Given the description of an element on the screen output the (x, y) to click on. 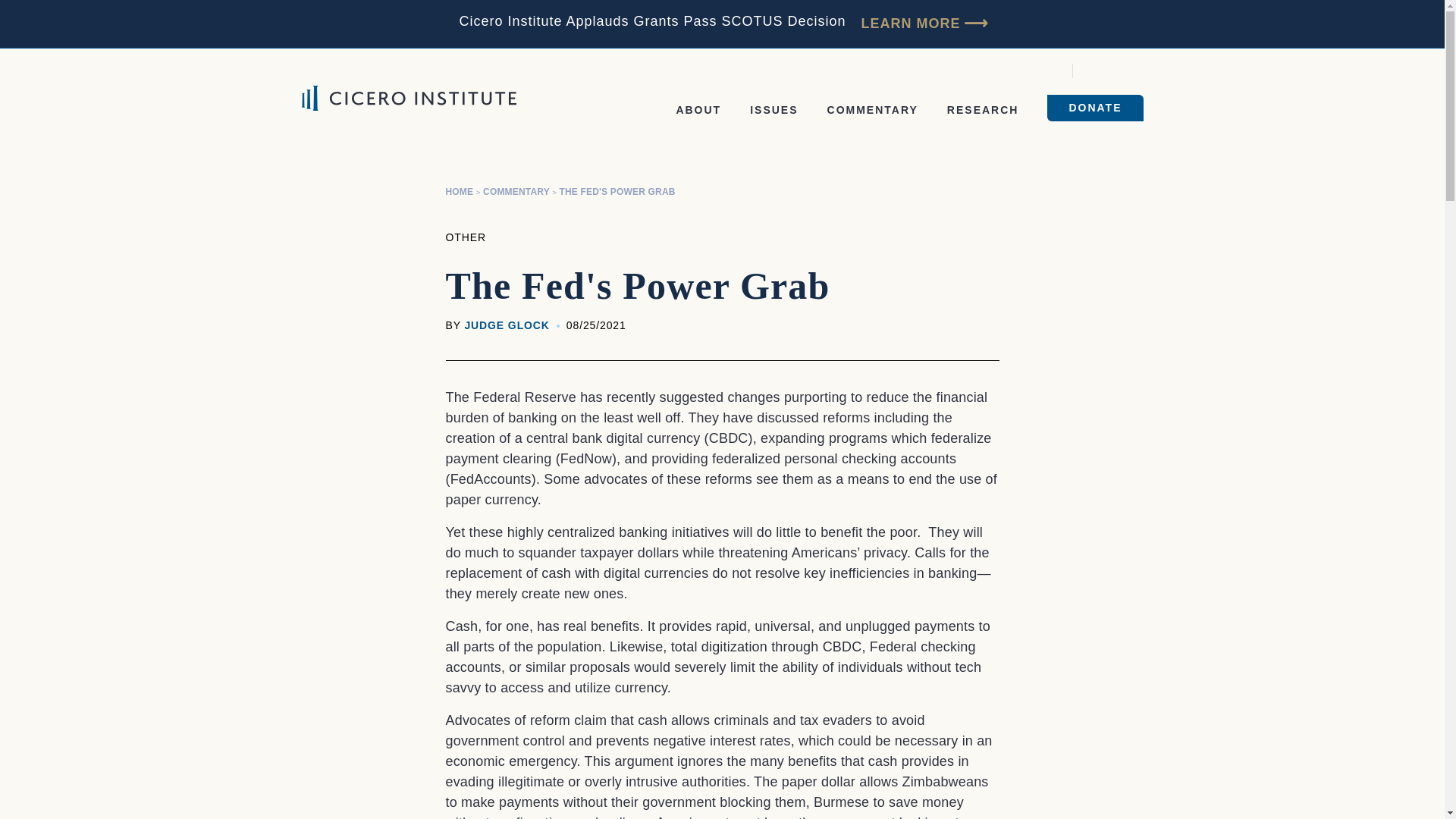
RESEARCH (983, 110)
DONATE (1094, 108)
COMMENTARY (516, 191)
Search (1095, 71)
JUDGE GLOCK (506, 325)
HOME (459, 191)
ISSUES (773, 110)
COMMENTARY (872, 110)
ABOUT (697, 110)
OTHER (465, 236)
